Given the description of an element on the screen output the (x, y) to click on. 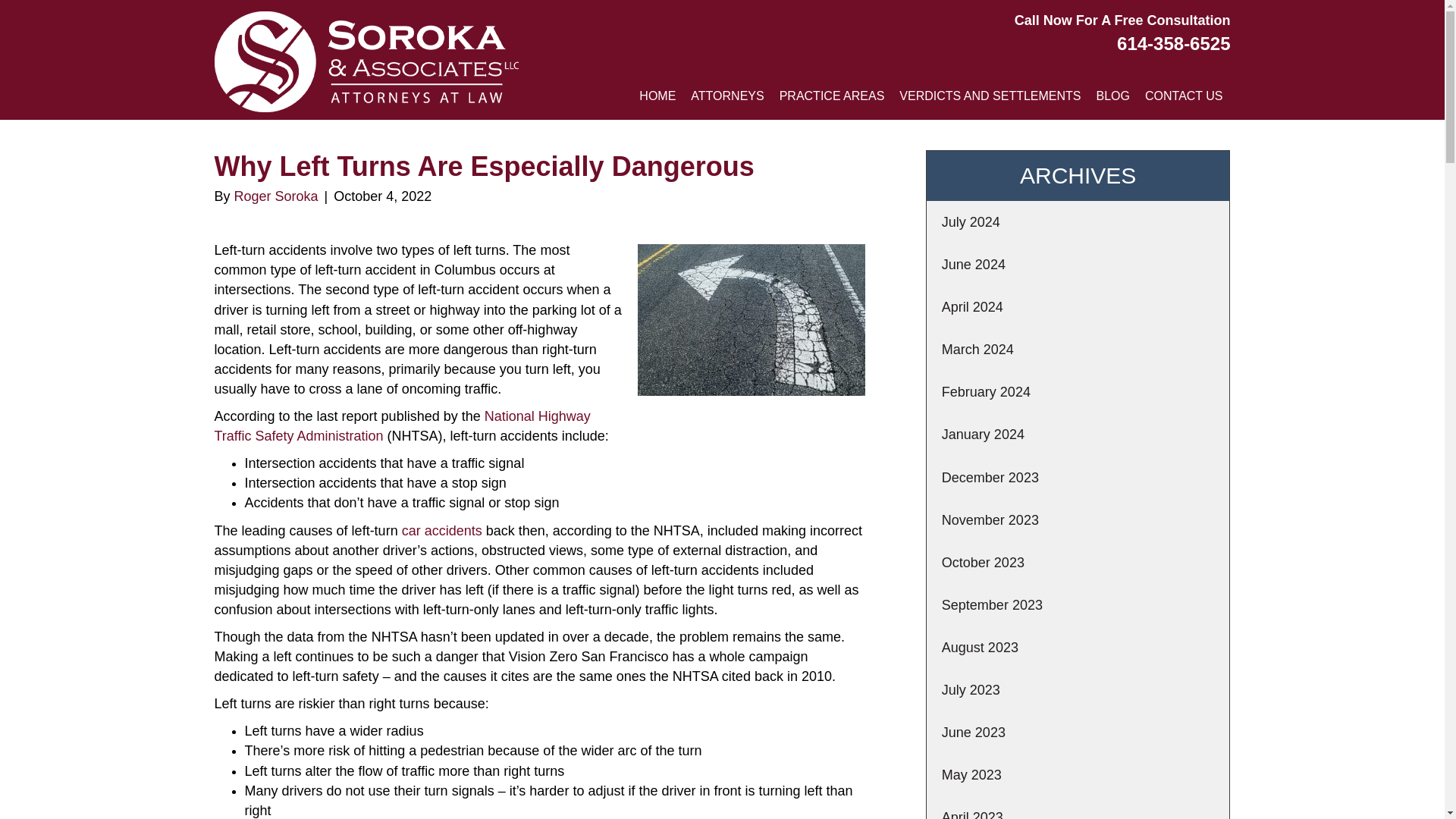
ATTORNEYS (726, 95)
PRACTICE AREAS (831, 95)
614-358-6525 (1173, 43)
HOME (656, 95)
